Given the description of an element on the screen output the (x, y) to click on. 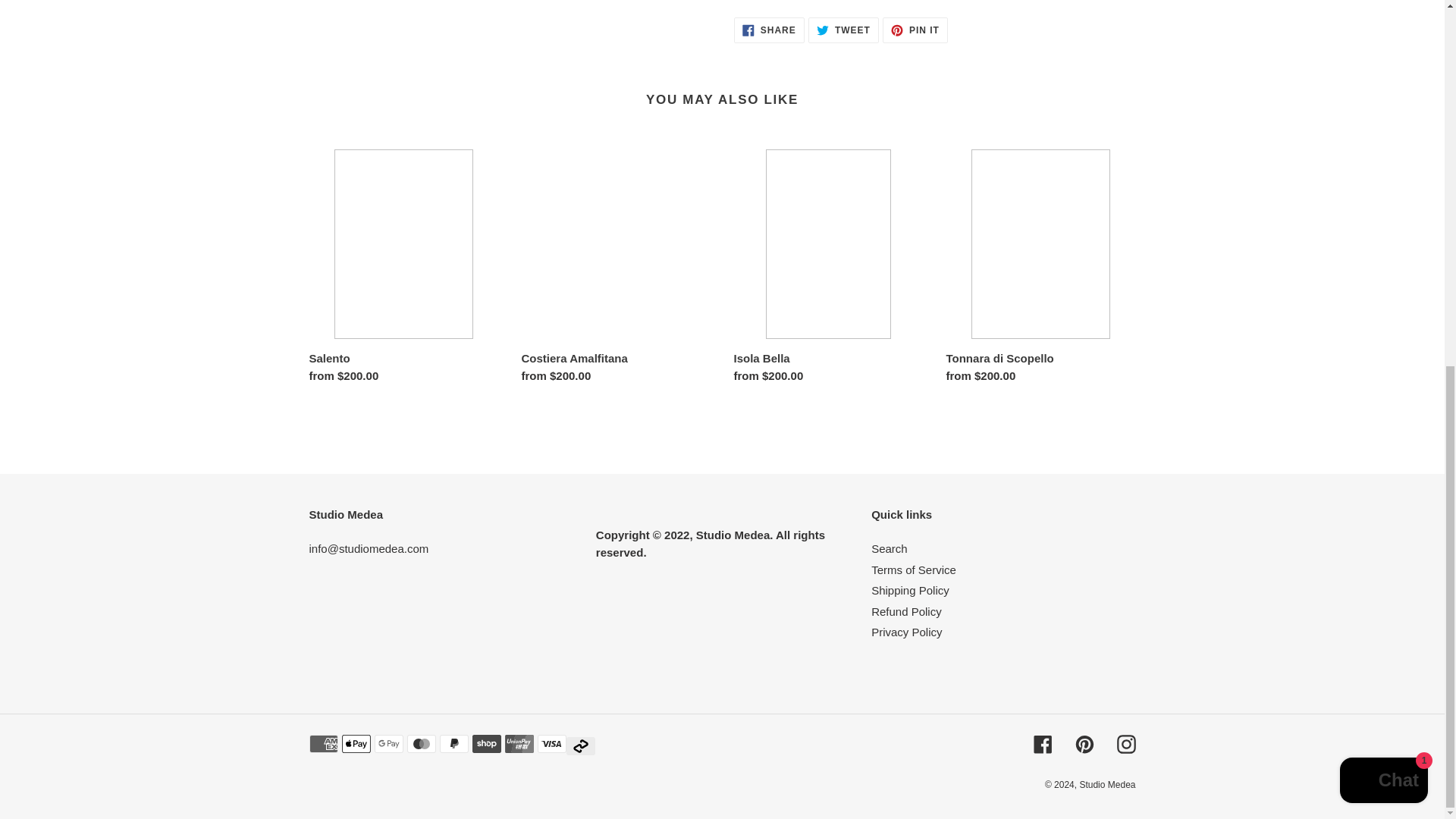
Refund Policy (914, 30)
Facebook (906, 611)
Search (1041, 743)
Studio Medea (888, 548)
Terms of Service (843, 30)
Privacy Policy (1106, 784)
Pinterest (913, 569)
Instagram (906, 631)
Shipping Policy (1084, 743)
Shopify online store chat (769, 30)
